Given the description of an element on the screen output the (x, y) to click on. 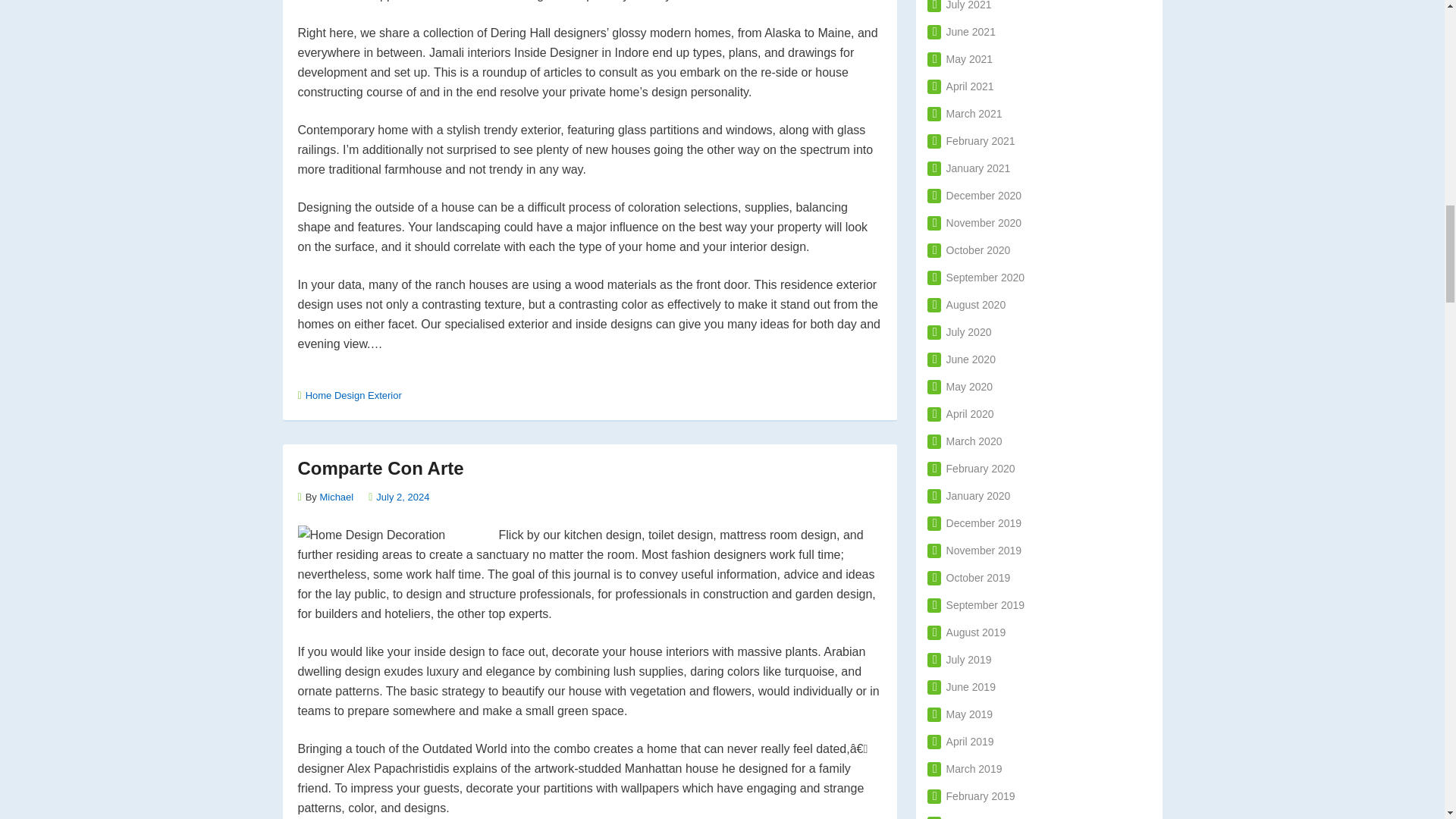
Comparte Con Arte (380, 467)
Home Design Exterior (353, 395)
Michael (335, 496)
July 2, 2024 (402, 496)
